Given the description of an element on the screen output the (x, y) to click on. 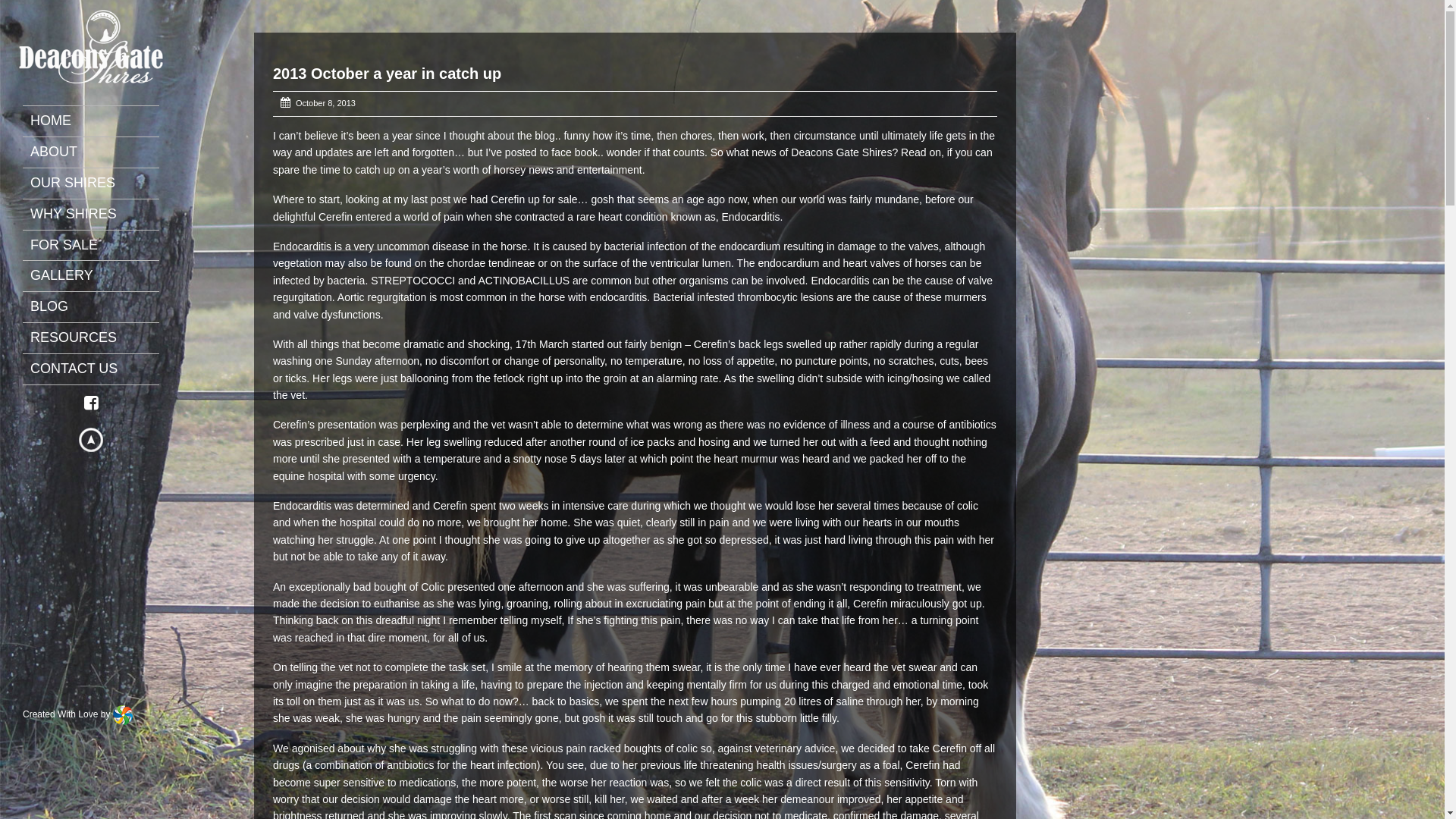
FOR SALE Element type: text (98, 245)
CONTACT US Element type: text (98, 368)
GALLERY Element type: text (98, 275)
HOME Element type: text (98, 120)
ABOUT Element type: text (98, 152)
Facebook Element type: hover (90, 402)
BLOG Element type: text (98, 306)
WHY SHIRES Element type: text (98, 214)
2013 October a year in catch up Element type: text (387, 73)
Deacons Gate Shires Element type: hover (90, 42)
OUR SHIRES Element type: text (98, 183)
RESOURCES Element type: text (98, 337)
